Given the description of an element on the screen output the (x, y) to click on. 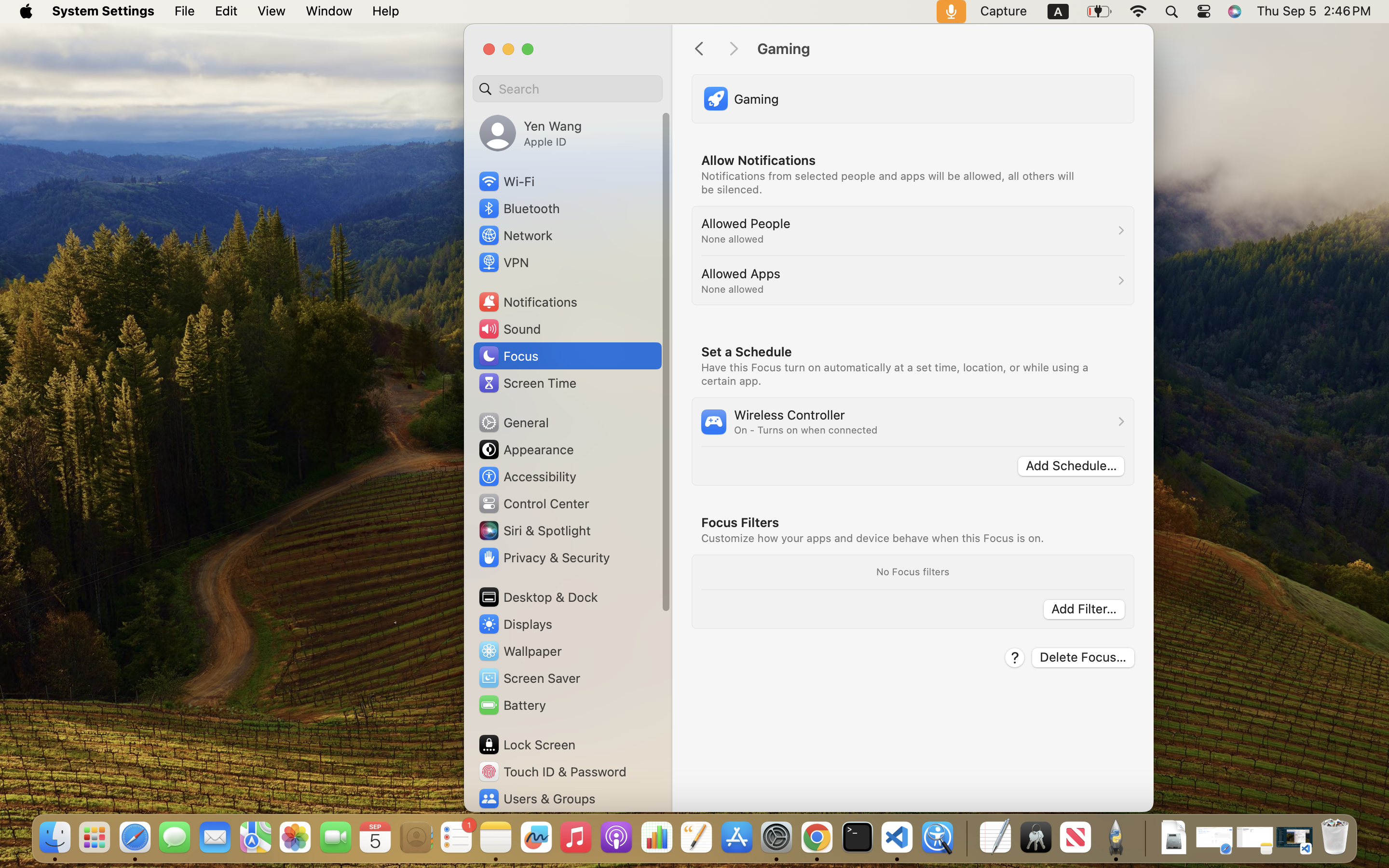
Privacy & Security Element type: AXStaticText (543, 557)
Accessibility Element type: AXStaticText (526, 476)
Siri & Spotlight Element type: AXStaticText (533, 530)
Sound Element type: AXStaticText (509, 328)
Bluetooth Element type: AXStaticText (518, 207)
